Given the description of an element on the screen output the (x, y) to click on. 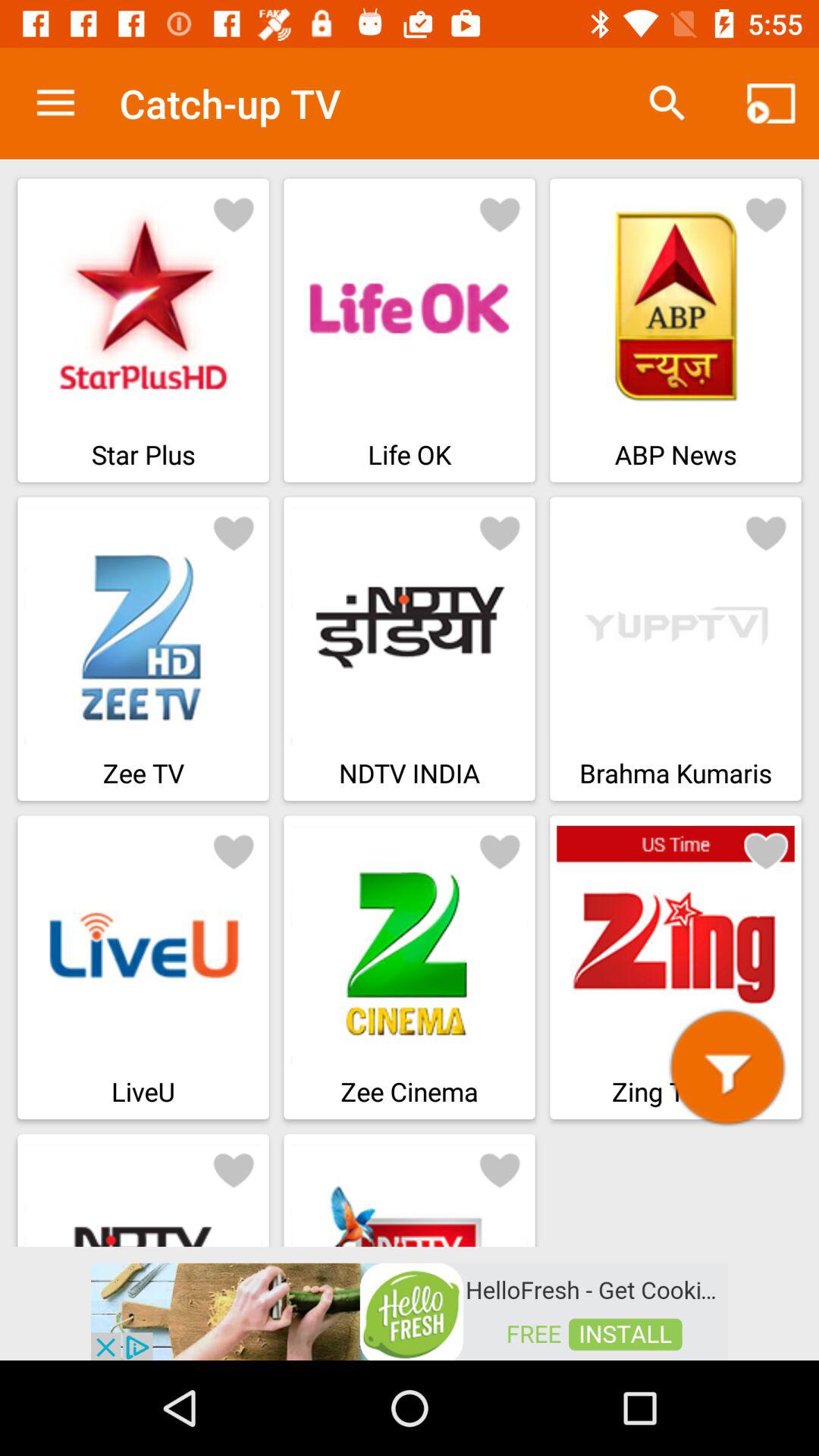
slick to like option (233, 1169)
